Given the description of an element on the screen output the (x, y) to click on. 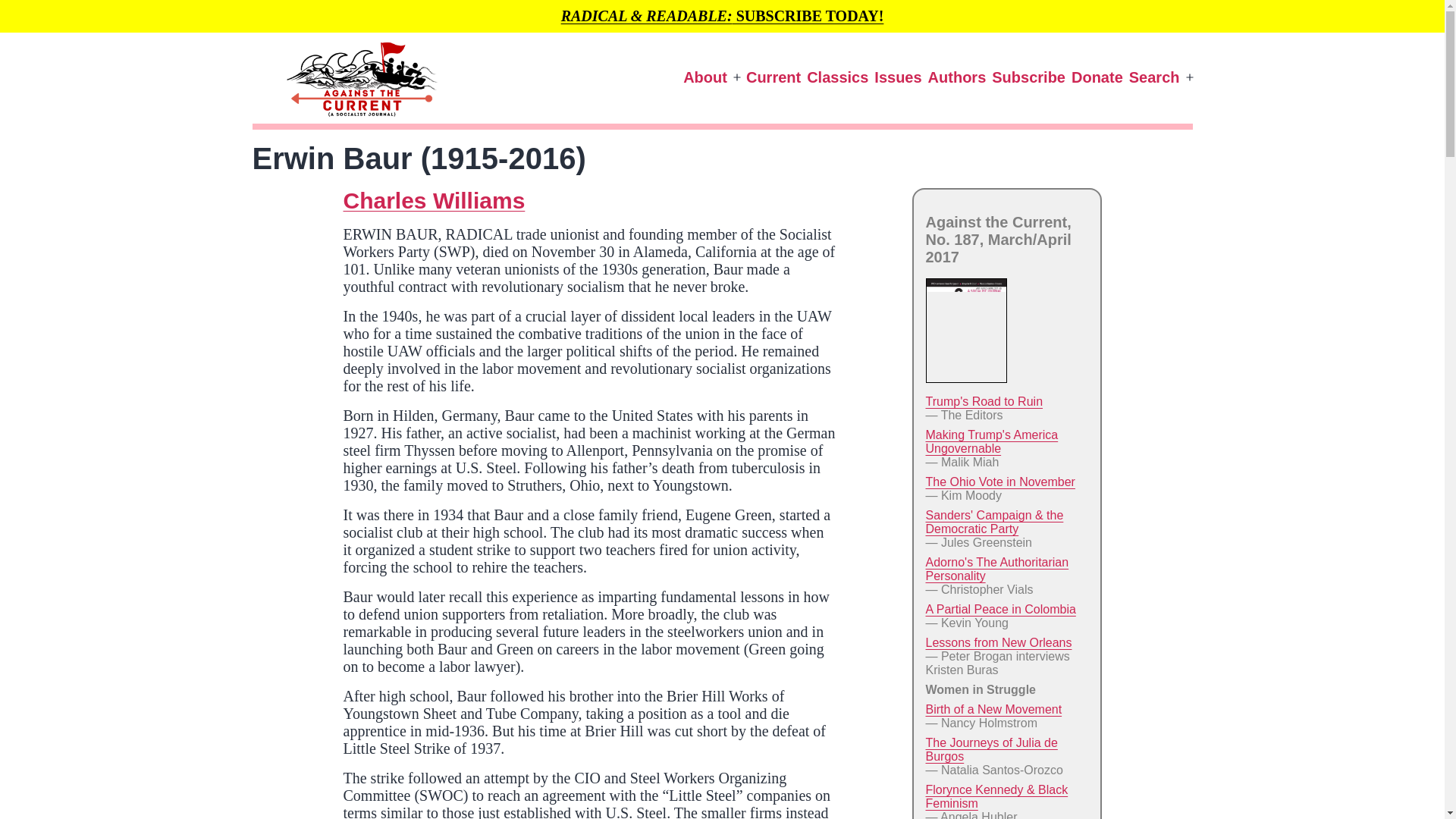
Classics (836, 78)
Authors (957, 78)
Trump's Road to Ruin (983, 400)
Lessons from New Orleans (997, 642)
A Partial Peace in Colombia (999, 608)
Donate (1096, 78)
The Ohio Vote in November (999, 481)
The Journeys of Julia de Burgos (990, 749)
Search (1153, 78)
Birth of a New Movement (992, 708)
